Given the description of an element on the screen output the (x, y) to click on. 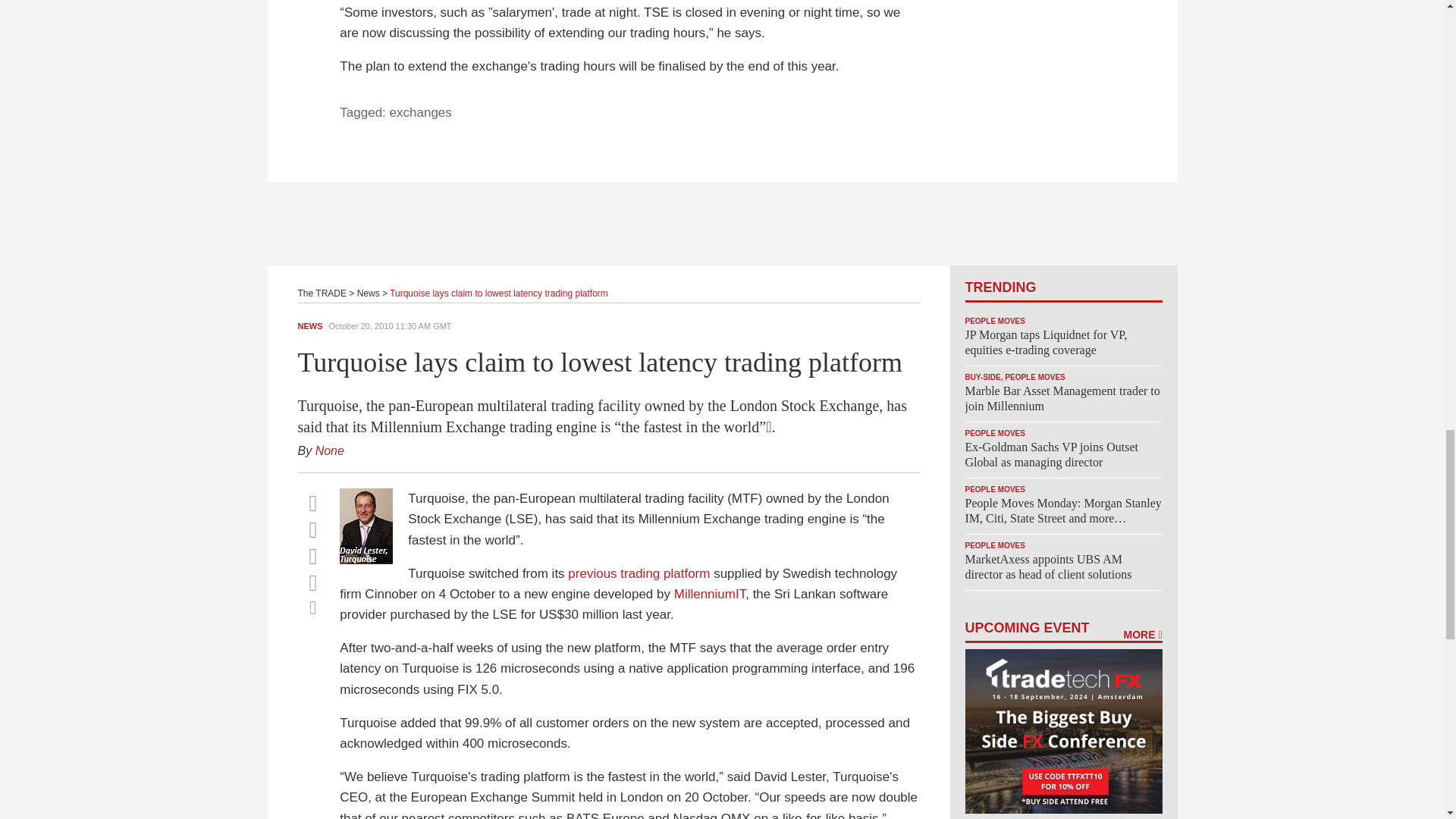
Go to the News Category archives. (368, 293)
ShareREAL (369, 559)
3rd party ad content (722, 223)
Go to The TRADE. (321, 293)
